Given the description of an element on the screen output the (x, y) to click on. 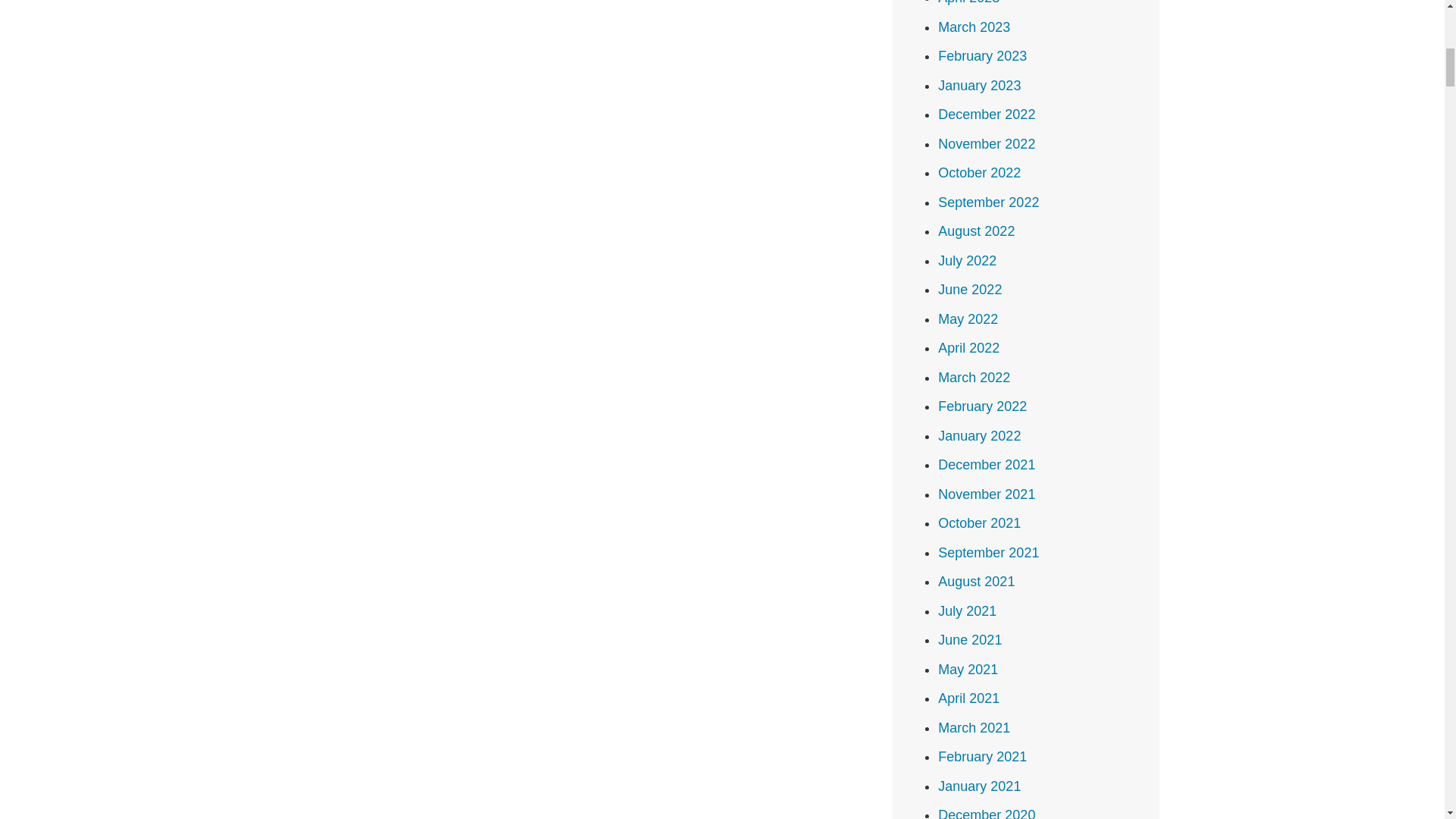
April 2023 (967, 2)
